Given the description of an element on the screen output the (x, y) to click on. 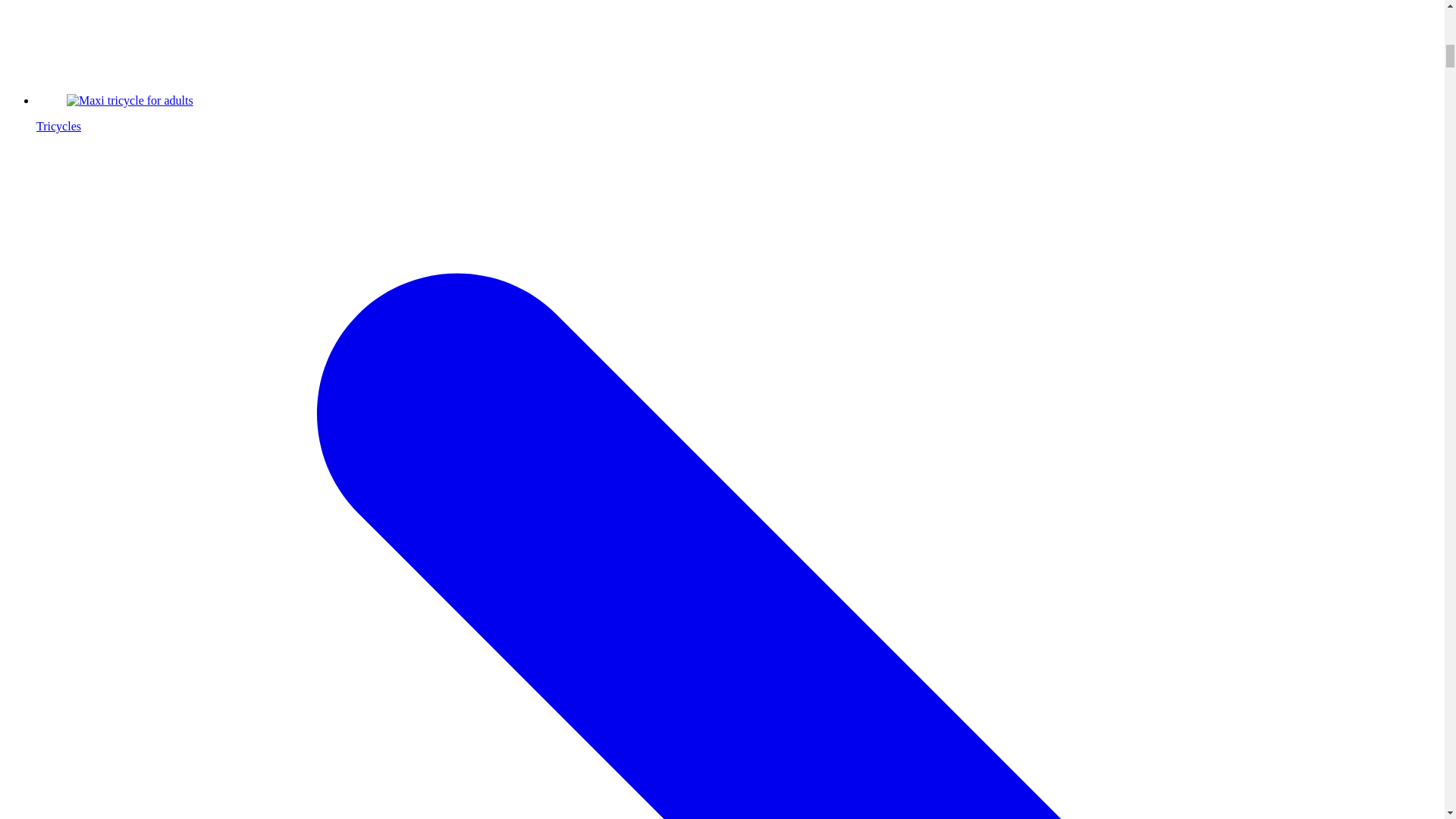
Maxi tricycle for adults (129, 100)
